Given the description of an element on the screen output the (x, y) to click on. 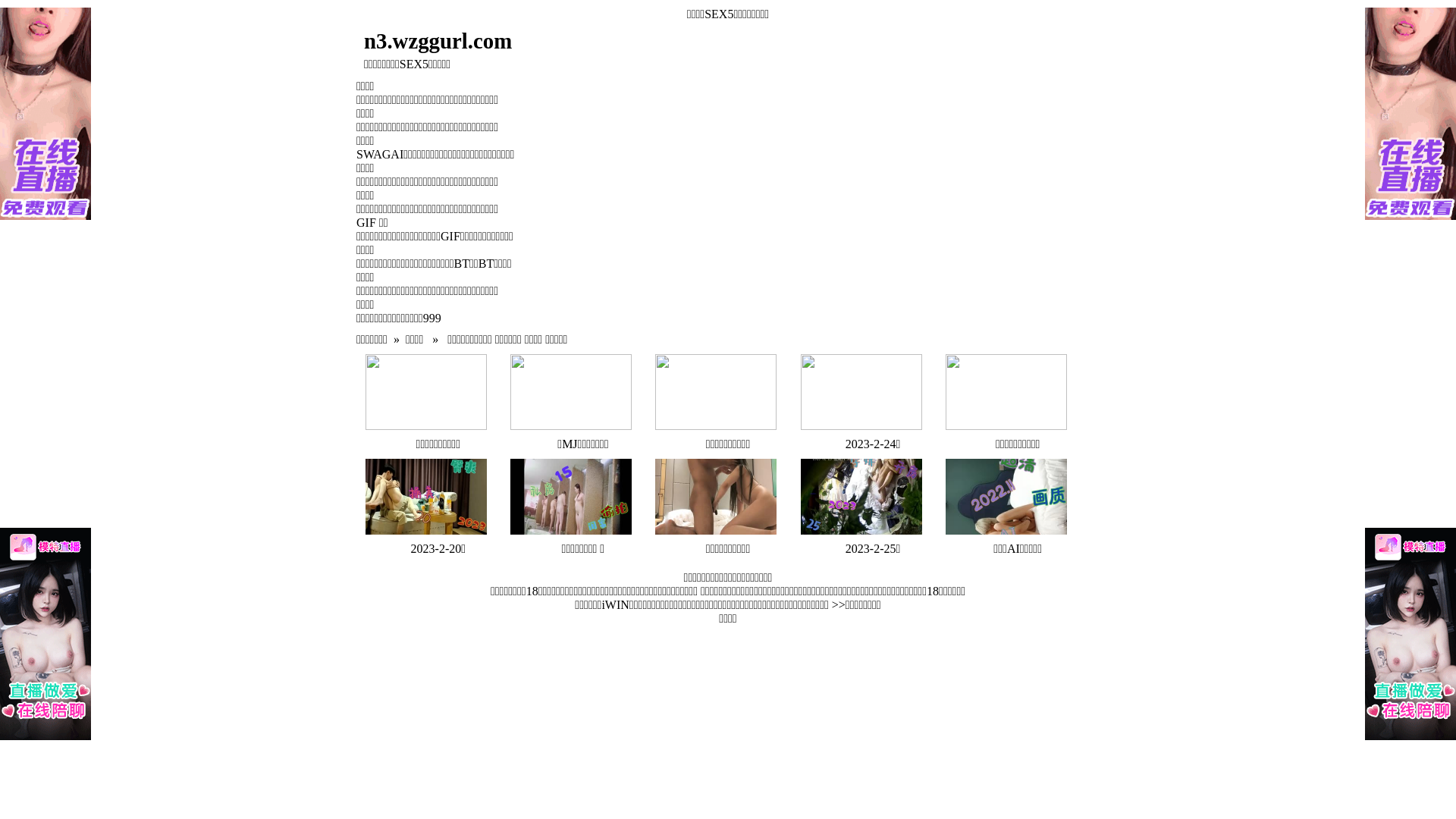
n3.wzggurl.com Element type: text (634, 40)
SWAG Element type: text (373, 153)
